Given the description of an element on the screen output the (x, y) to click on. 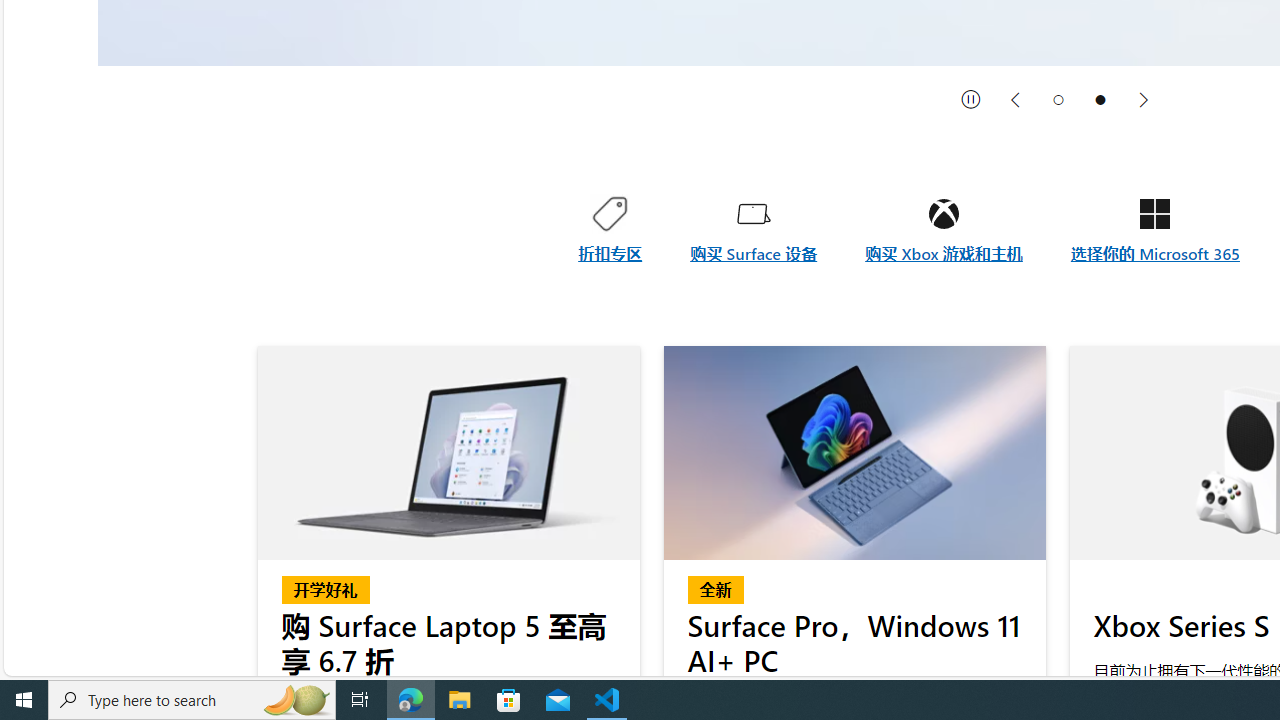
Pause (971, 99)
